Given the description of an element on the screen output the (x, y) to click on. 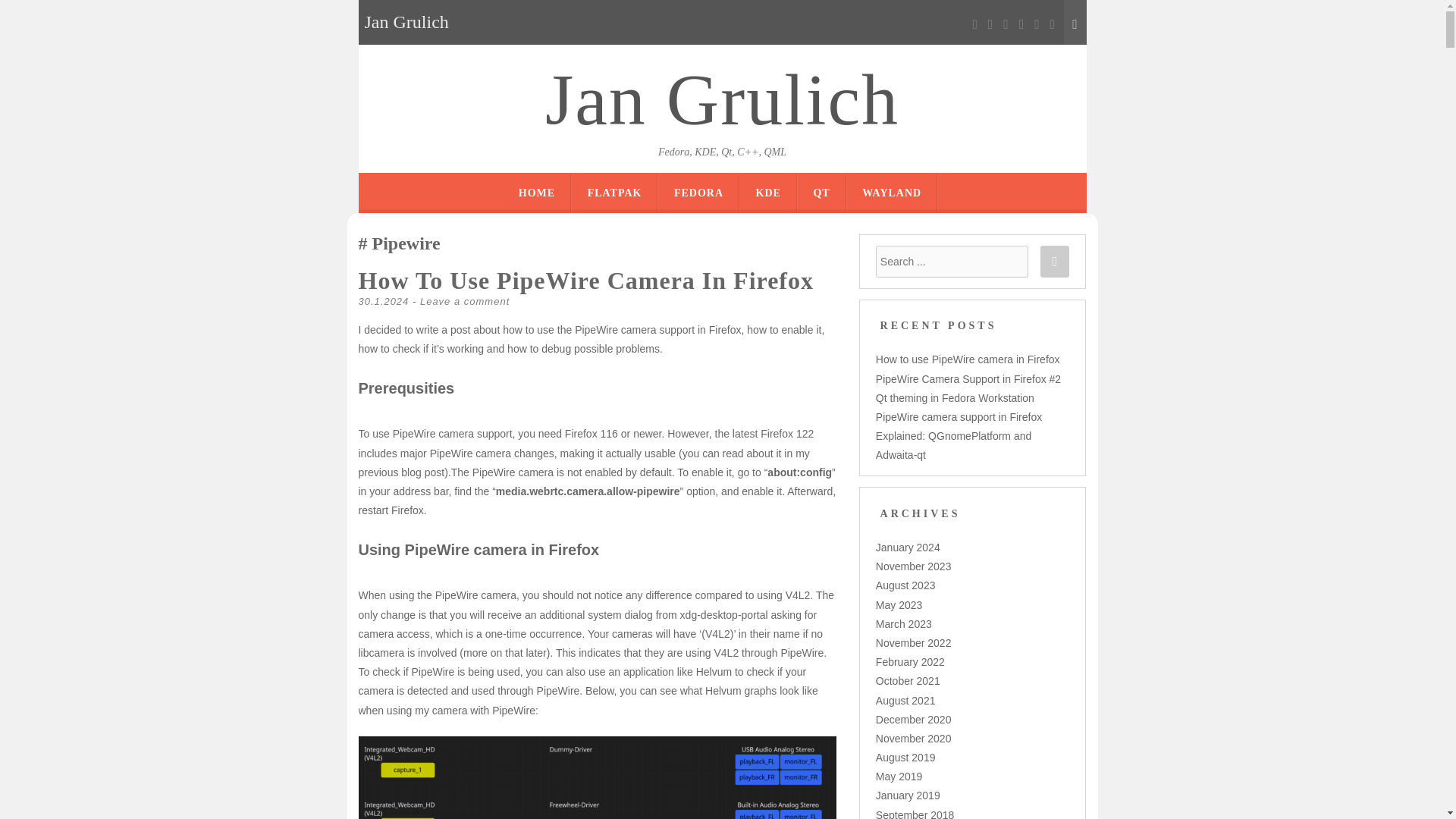
Leave a comment (464, 301)
my previous blog post (583, 462)
FLATPAK (615, 192)
FEDORA (698, 192)
WAYLAND (891, 192)
Jan Grulich (721, 99)
HOME (536, 192)
30.1.2024 (383, 301)
How To Use PipeWire Camera In Firefox (585, 280)
